Given the description of an element on the screen output the (x, y) to click on. 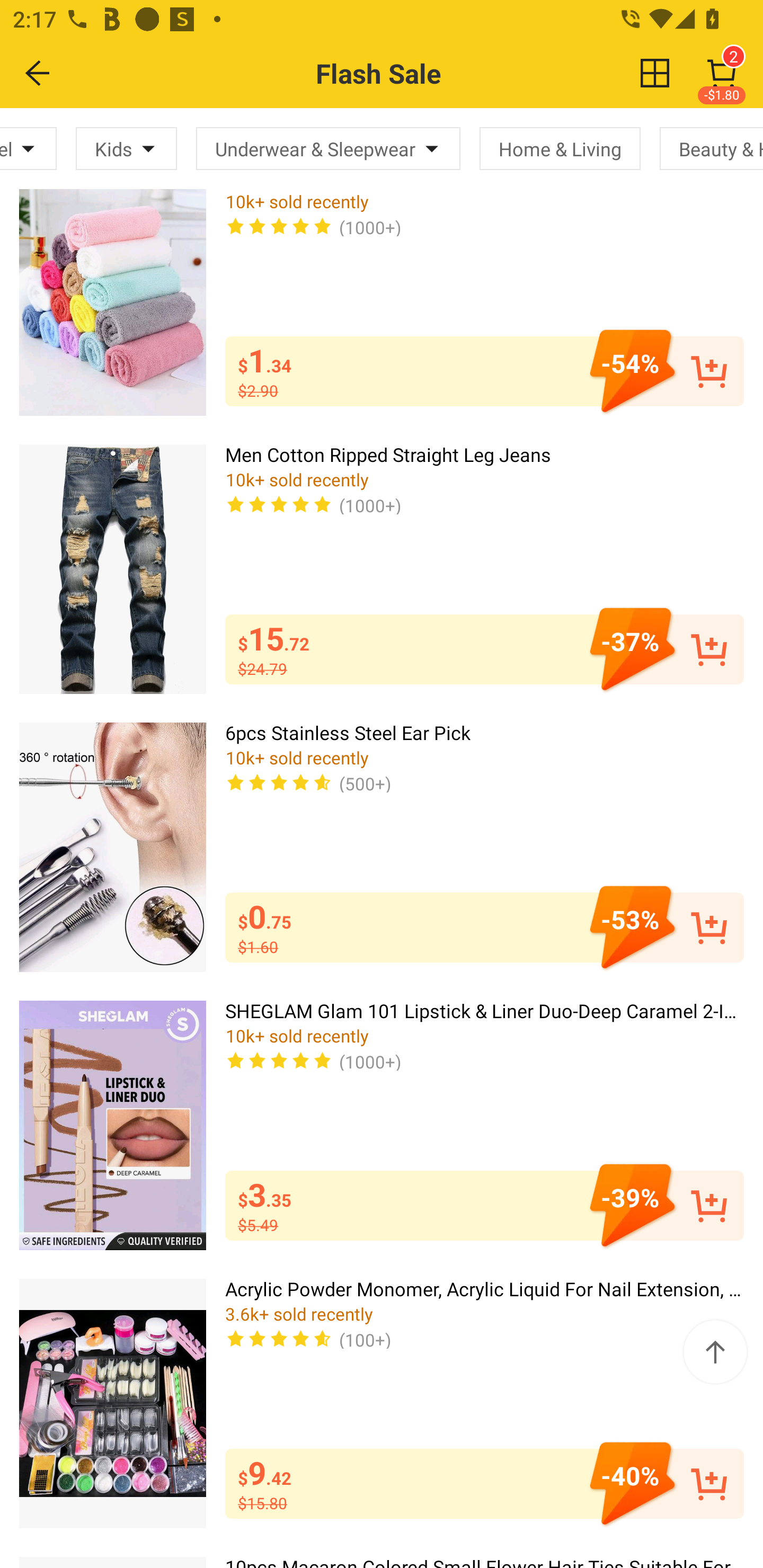
Flash Sale change view 2 -$1.80 (419, 72)
2 -$1.80 (721, 72)
change view (654, 72)
BACK (38, 72)
Kids (126, 148)
Underwear & Sleepwear (328, 148)
Home & Living (559, 148)
Beauty & Health (711, 148)
Men Cotton Ripped Straight Leg Jeans (112, 568)
6pcs Stainless Steel Ear Pick (112, 847)
Back to top (714, 1351)
